Given the description of an element on the screen output the (x, y) to click on. 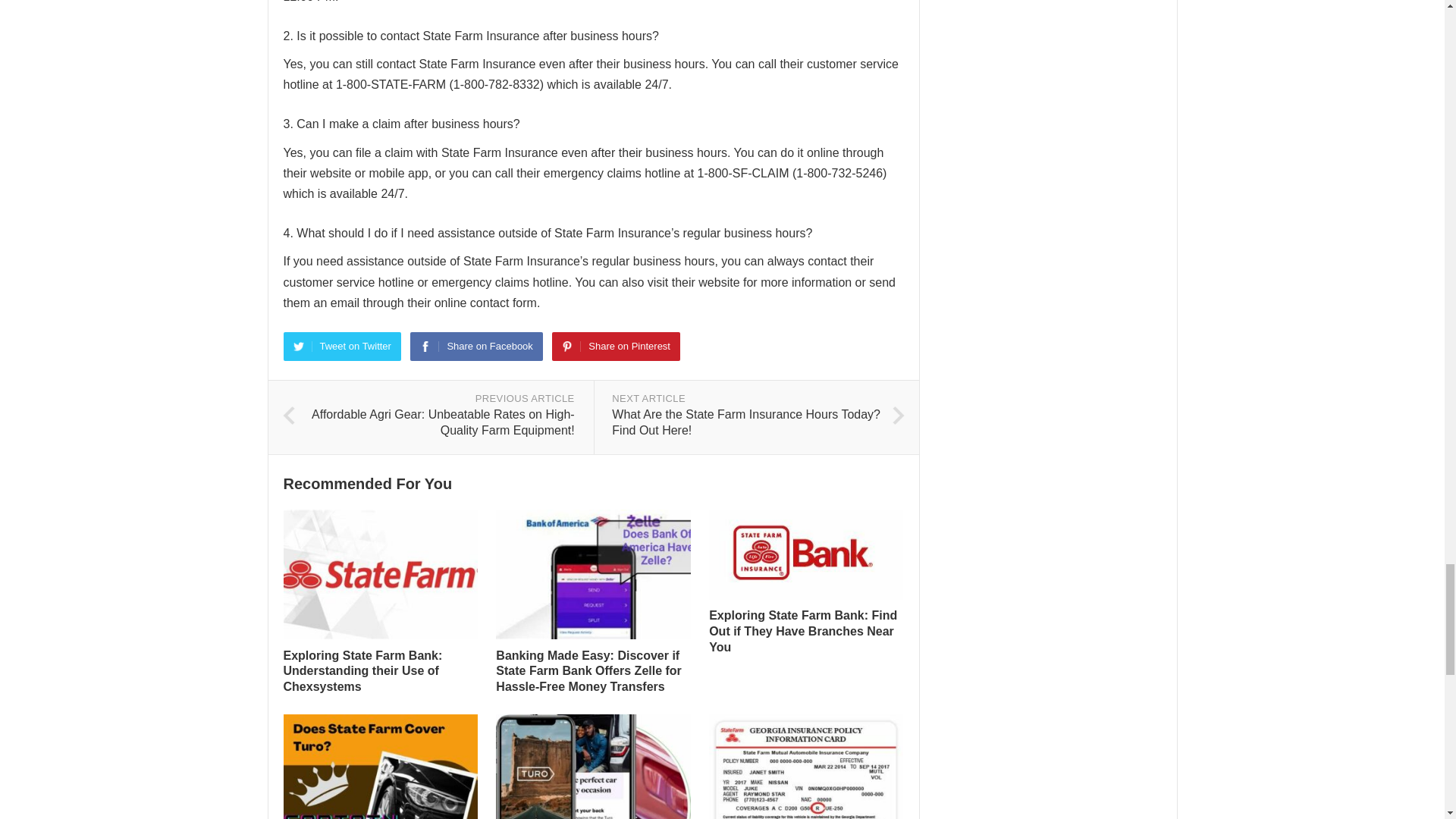
Share on Pinterest (615, 346)
Share on Facebook (475, 346)
Tweet on Twitter (342, 346)
